Given the description of an element on the screen output the (x, y) to click on. 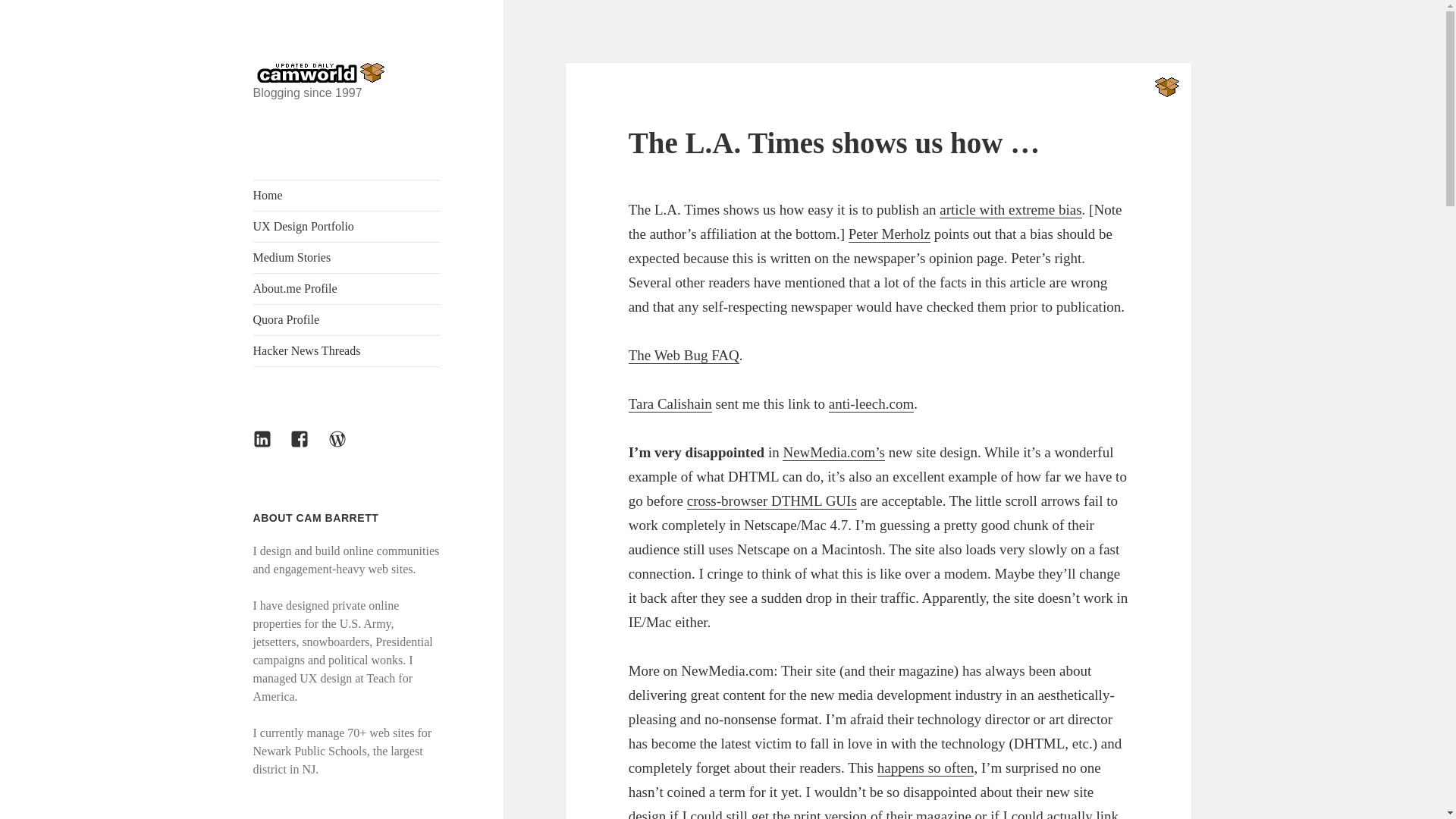
happens so often (925, 768)
cross-browser DTHML GUIs (772, 501)
Tara Calishain (669, 403)
anti-leech.com (871, 403)
About.me Profile (347, 288)
Medium Stories (347, 257)
LinkedIn Profile (271, 447)
Hacker News Threads (347, 350)
UX Design Portfolio (347, 226)
The Web Bug FAQ (683, 355)
